Given the description of an element on the screen output the (x, y) to click on. 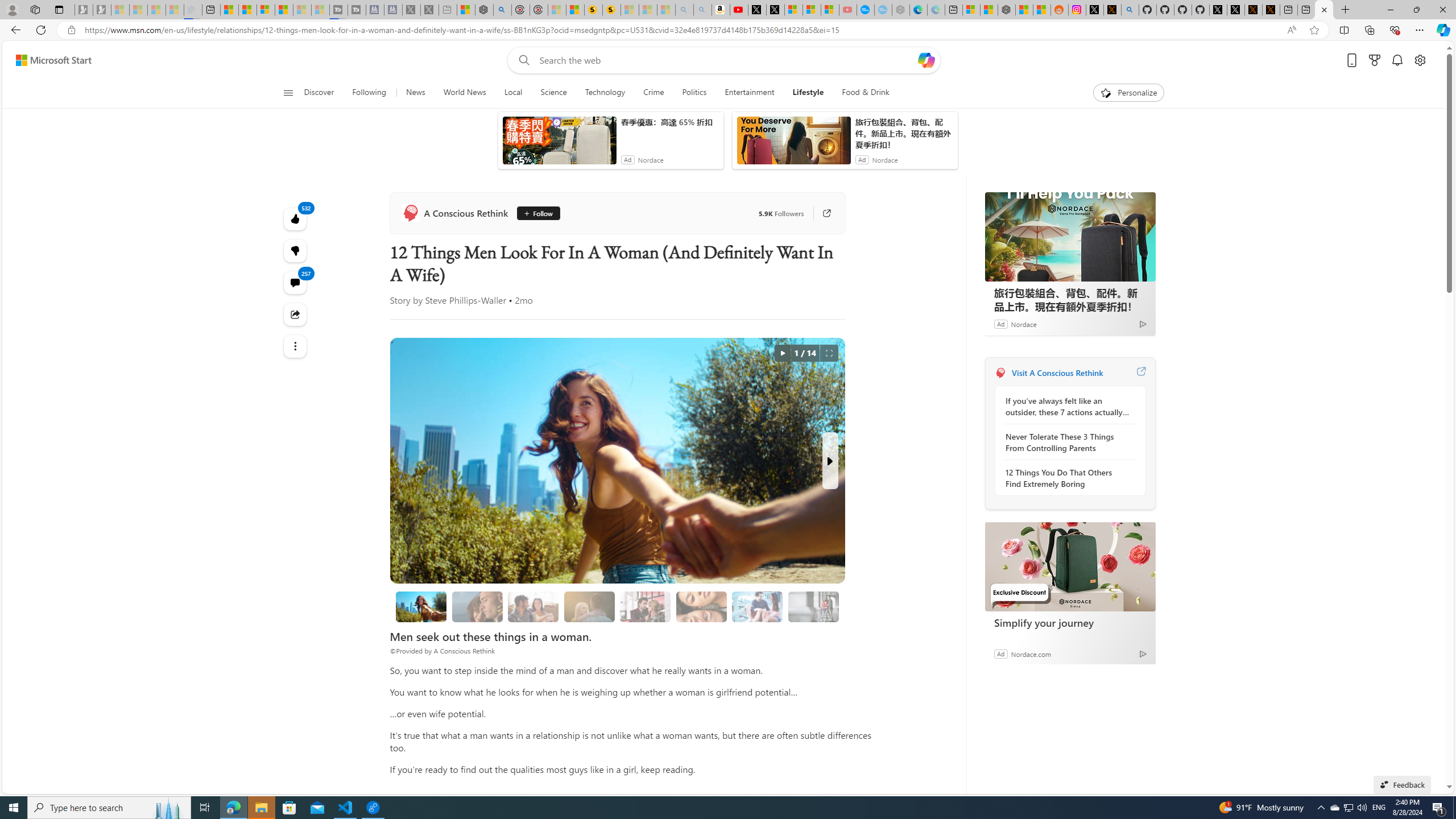
Daily (1052, 233)
Mostly sunny (1014, 208)
GitHub (@github) / X (1217, 9)
Traffic (816, 151)
Play (465, 151)
AutomationID: tab-17 (451, 328)
11 Like (652, 327)
Watch (619, 151)
